Given the description of an element on the screen output the (x, y) to click on. 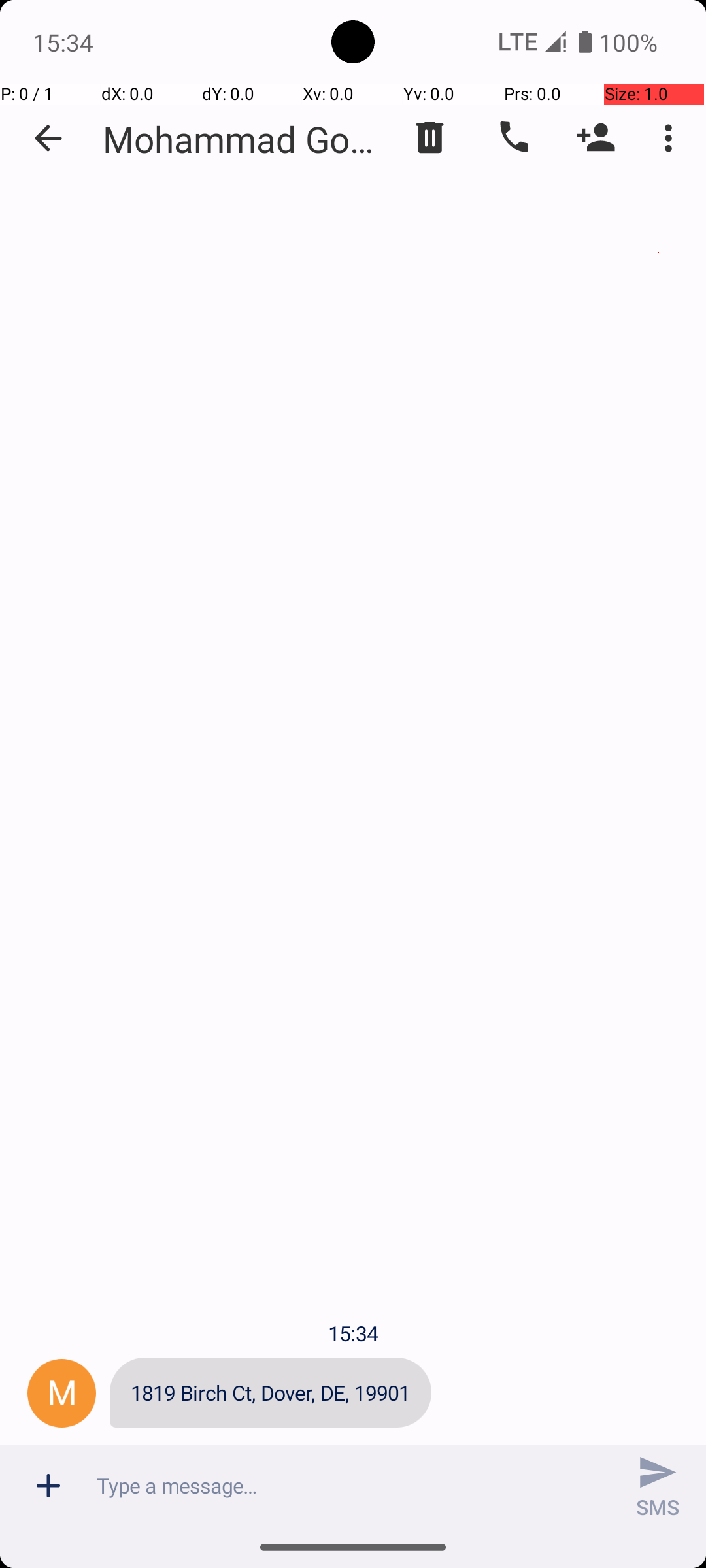
Mohammad Gonzalez Element type: android.widget.TextView (241, 138)
1819 Birch Ct, Dover, DE, 19901 Element type: android.widget.TextView (270, 1392)
